Given the description of an element on the screen output the (x, y) to click on. 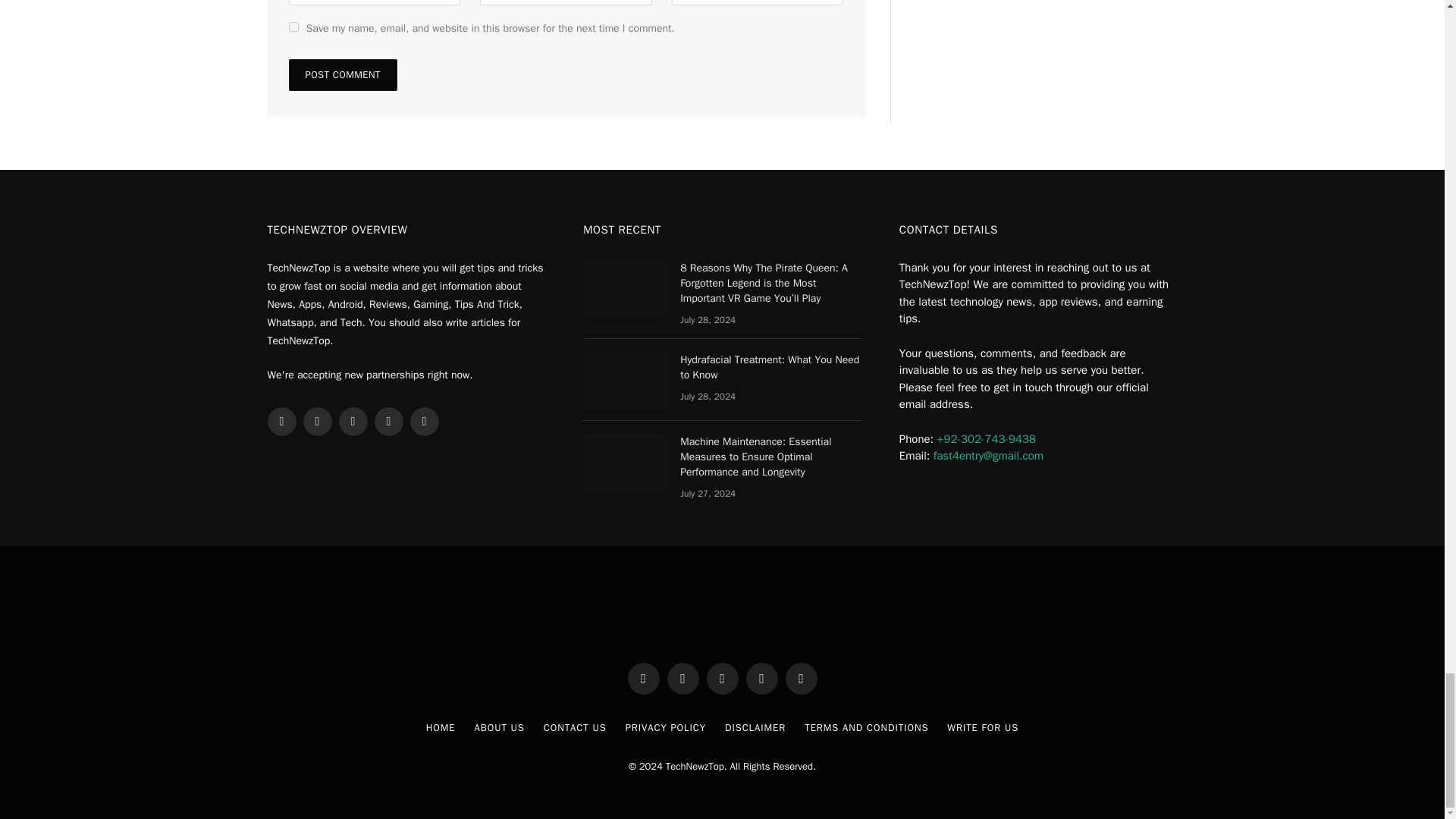
Post Comment (342, 74)
yes (293, 26)
